Given the description of an element on the screen output the (x, y) to click on. 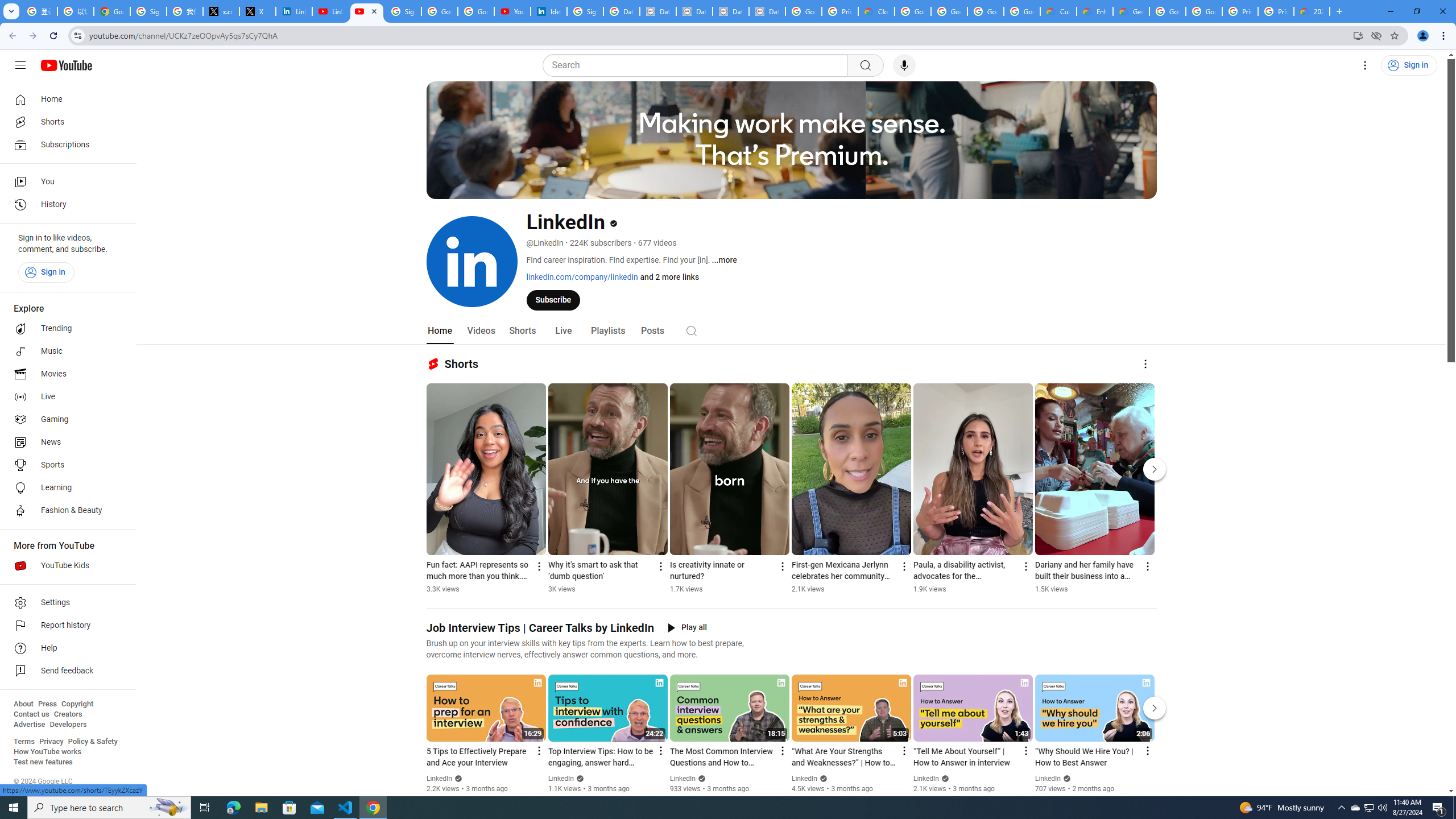
Playlists (607, 330)
Home (64, 99)
Sign in - Google Accounts (585, 11)
Data Privacy Framework (767, 11)
Settings (64, 602)
Is creativity innate or nurtured? - play Short (722, 571)
Google Workspace - Specific Terms (1021, 11)
Job Interview Tips | Career Talks by LinkedIn (539, 627)
Enhanced Support | Google Cloud (1094, 11)
More actions (1146, 566)
Learning (64, 487)
